Given the description of an element on the screen output the (x, y) to click on. 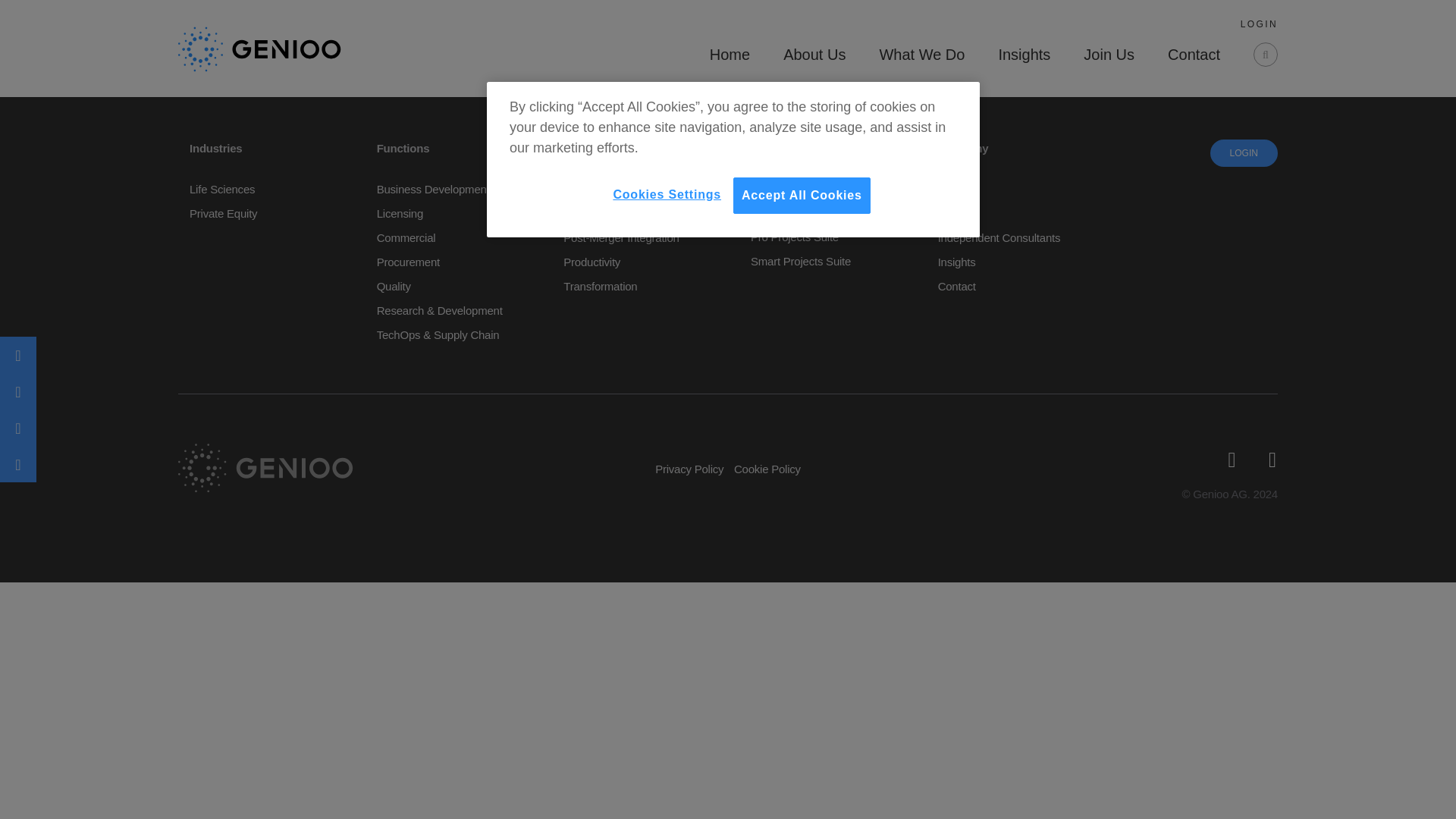
About Us (814, 57)
Join Us (1108, 57)
Genioo (259, 48)
What We Do (921, 57)
Insights (1023, 57)
Home (729, 57)
